Given the description of an element on the screen output the (x, y) to click on. 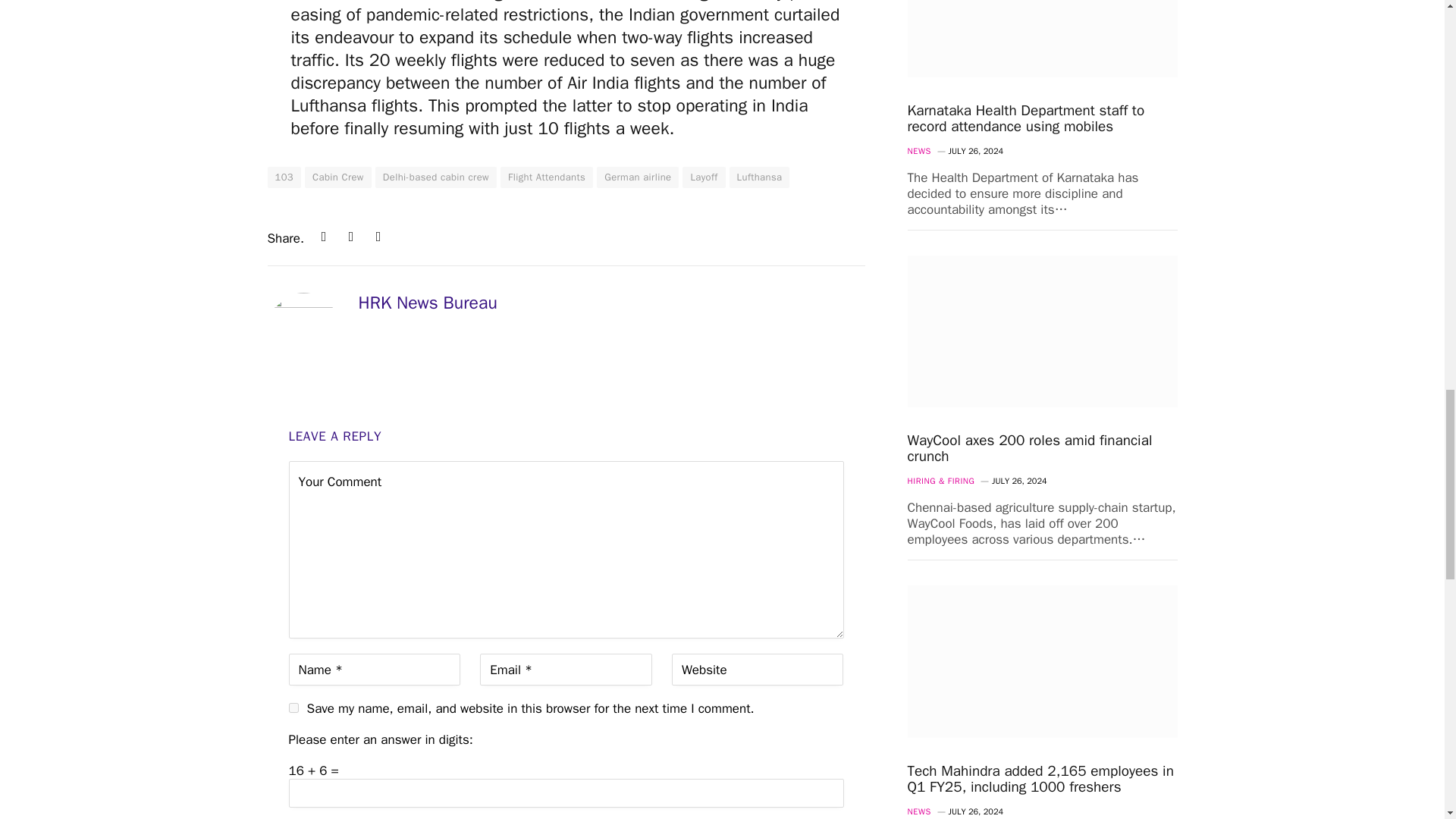
yes (293, 707)
Share on LinkedIn (323, 236)
